Given the description of an element on the screen output the (x, y) to click on. 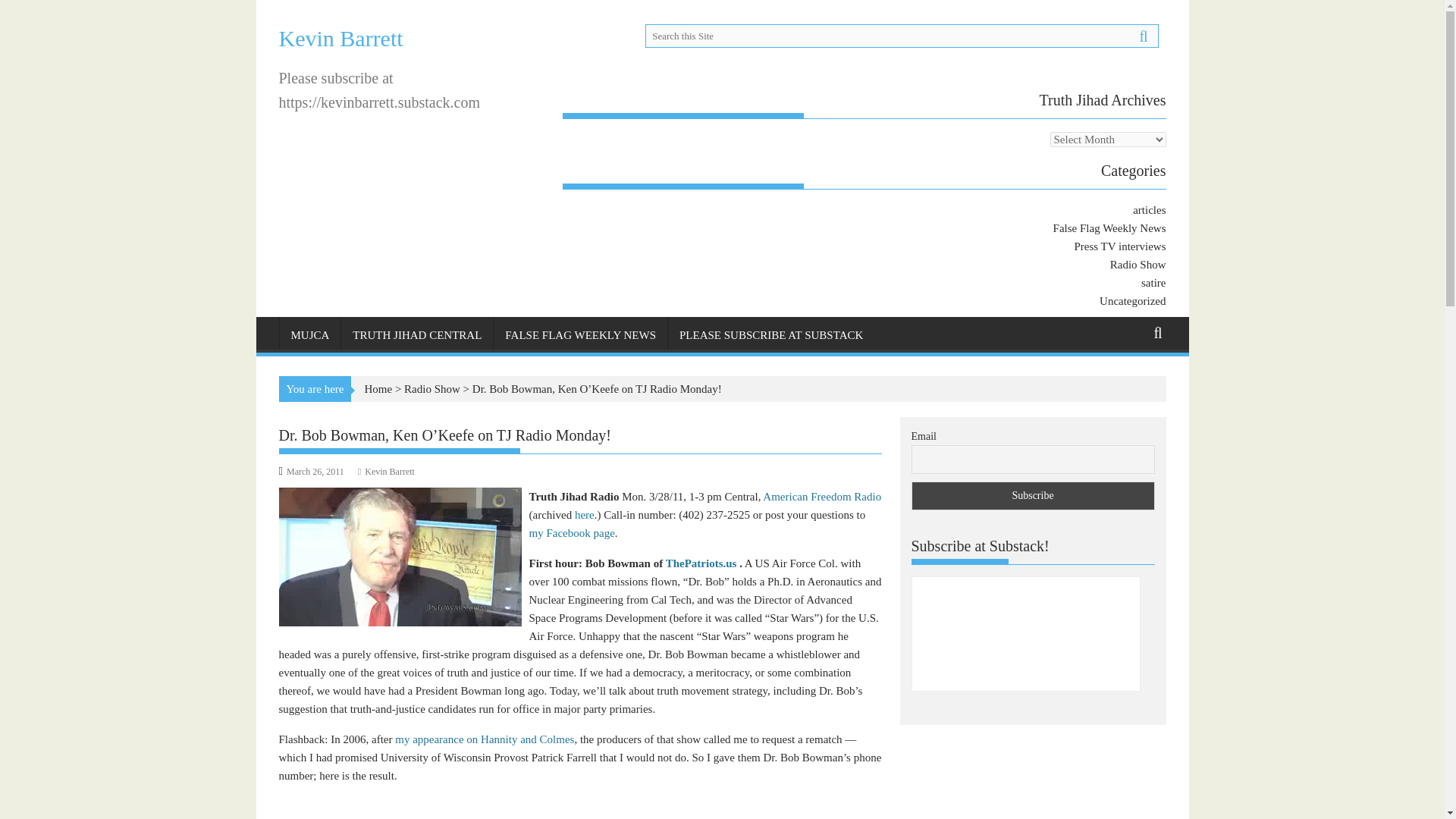
Radio Show (1137, 264)
FALSE FLAG WEEKLY NEWS (579, 334)
Press TV interviews (1120, 246)
Subscribe (1032, 495)
Kevin Barrett (341, 37)
MUJCA (309, 334)
False Flag Weekly News (1109, 227)
satire (1153, 282)
TRUTH JIHAD CENTRAL (416, 334)
articles (1149, 209)
